Given the description of an element on the screen output the (x, y) to click on. 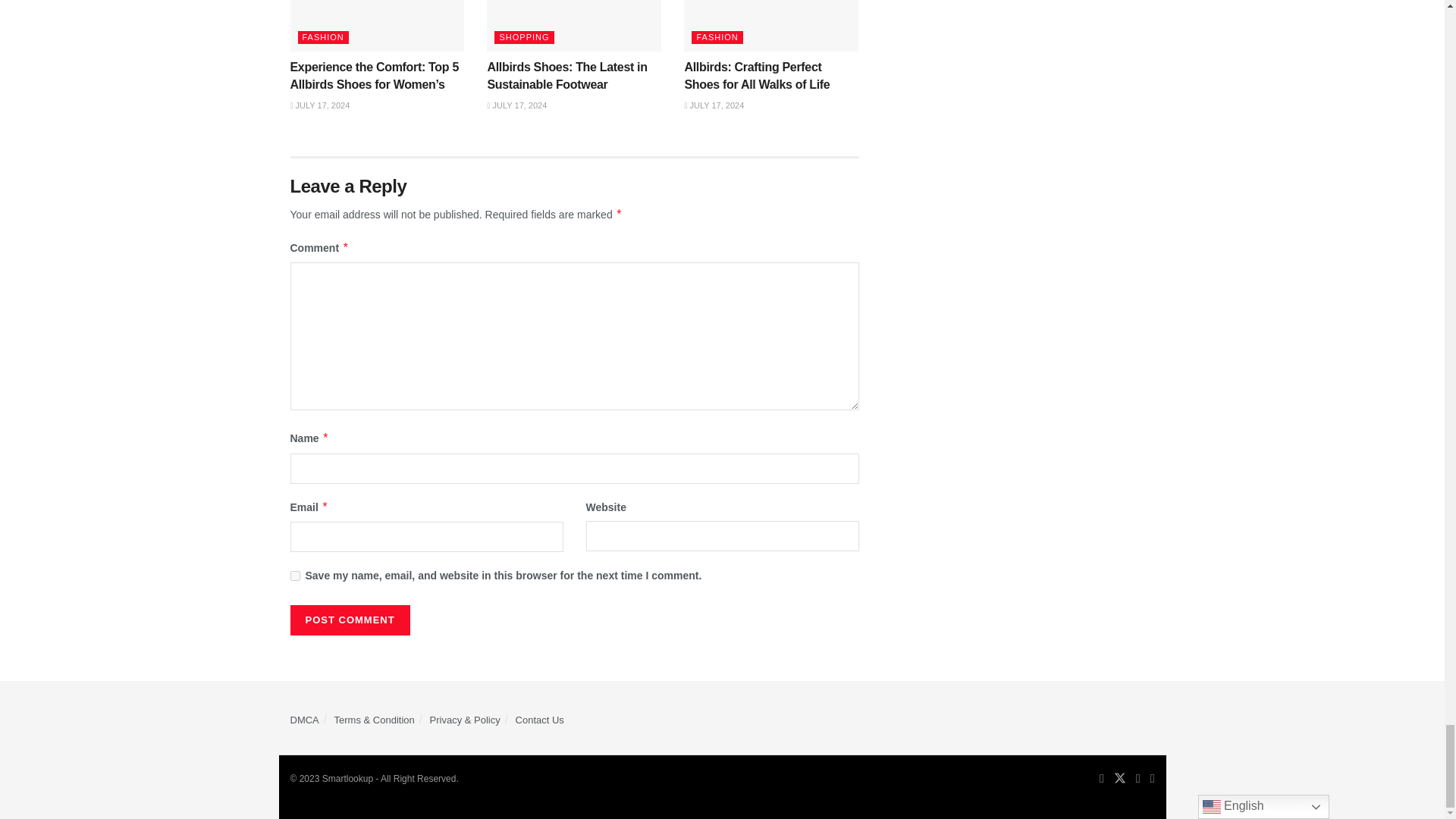
Post Comment (349, 620)
yes (294, 575)
